Given the description of an element on the screen output the (x, y) to click on. 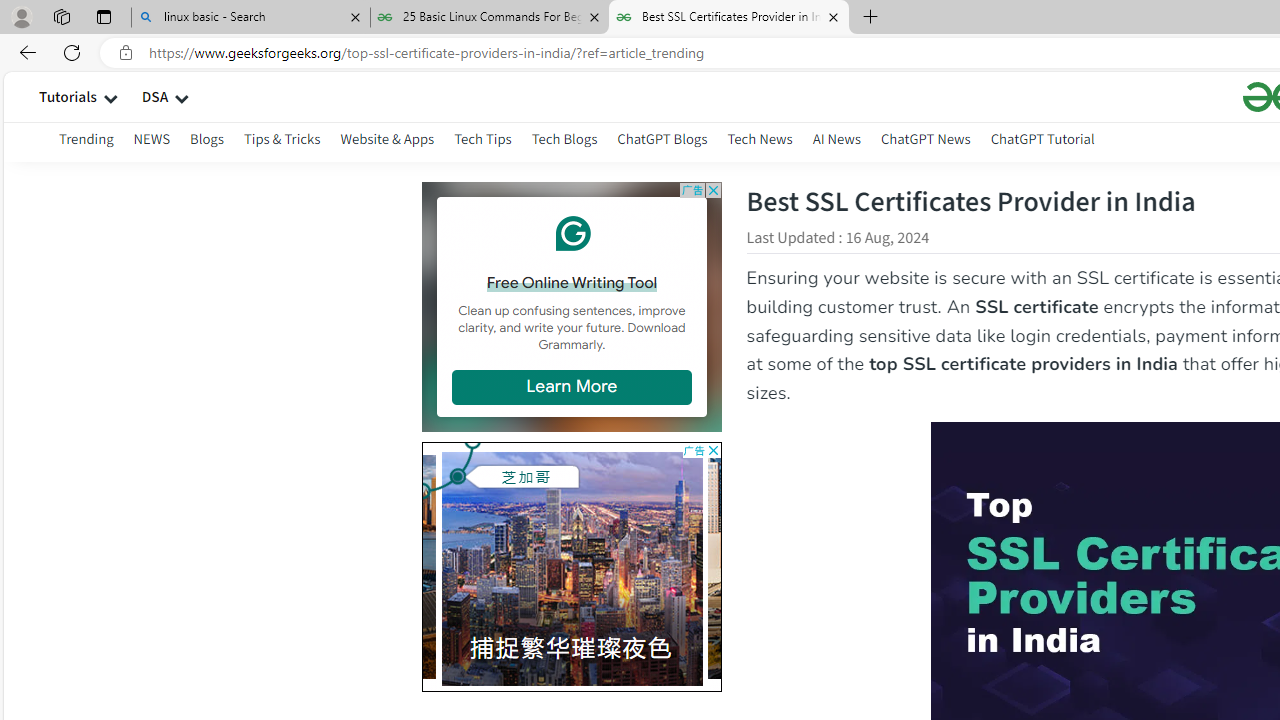
NEWS (151, 142)
Website & Apps (387, 142)
ChatGPT News (925, 142)
AutomationID: bg5 (857, 566)
Learn More (571, 386)
AutomationID: vapourBg (567, 565)
25 Basic Linux Commands For Beginners - GeeksforGeeks (490, 17)
linux basic - Search (250, 17)
Tech News (759, 142)
AI News (836, 138)
Website & Apps (387, 138)
AutomationID: bg2 (303, 561)
AI News (836, 142)
